Given the description of an element on the screen output the (x, y) to click on. 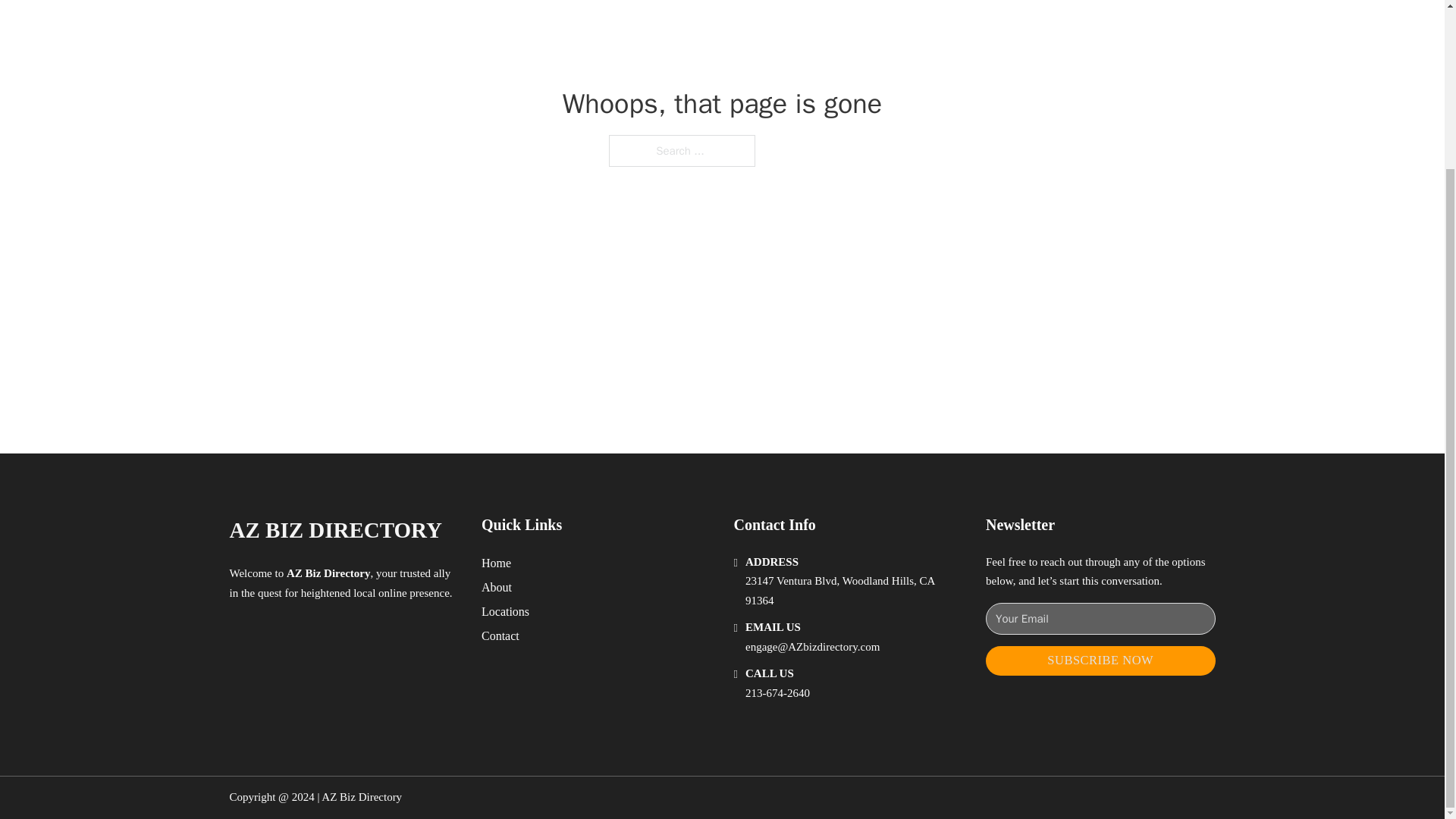
AZ BIZ DIRECTORY (334, 529)
Locations (505, 611)
Contact (500, 635)
SUBSCRIBE NOW (1100, 660)
About (496, 587)
213-674-2640 (777, 693)
Home (496, 562)
